Given the description of an element on the screen output the (x, y) to click on. 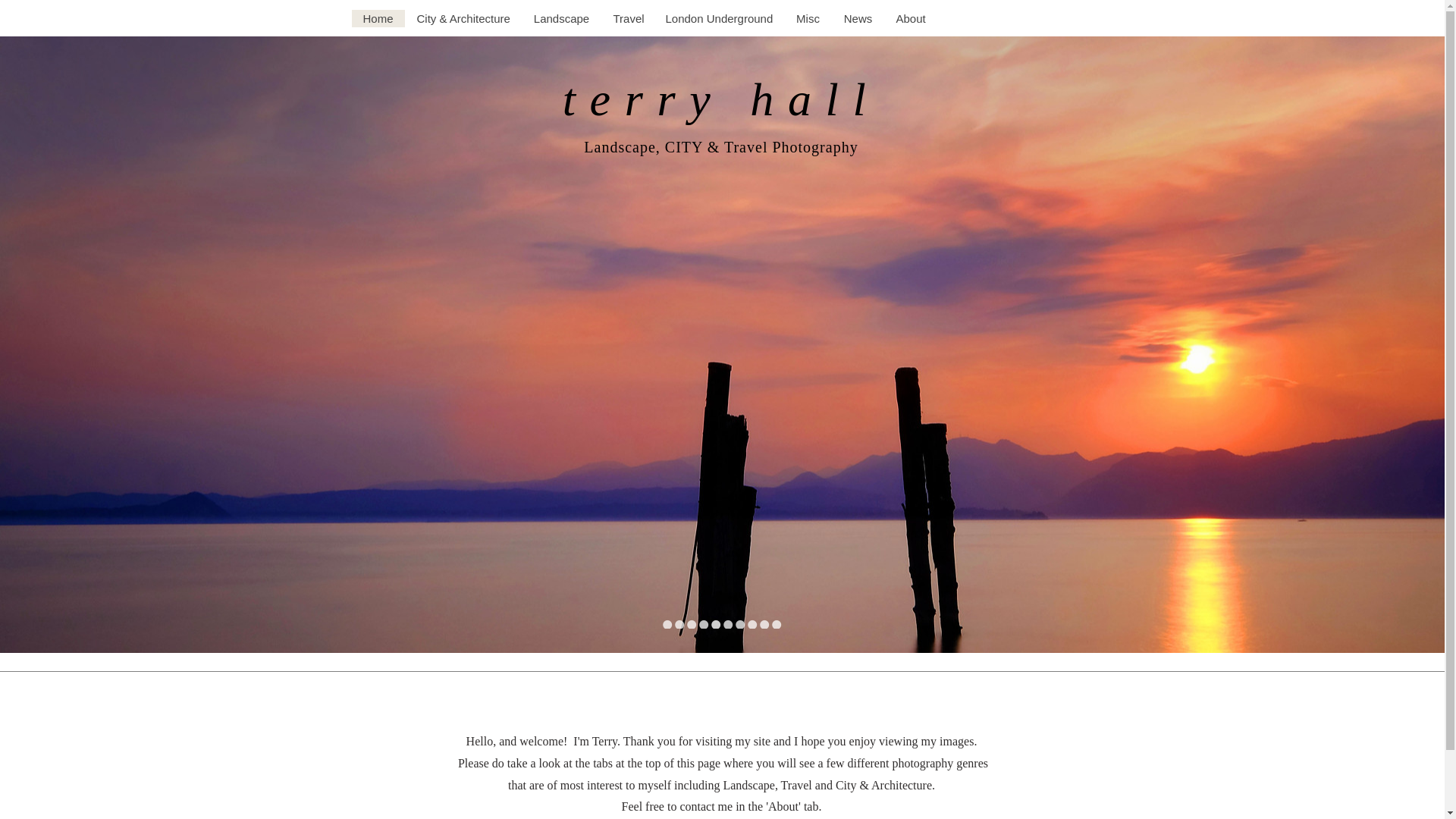
London Underground (718, 18)
Misc (807, 18)
terry hall (720, 99)
About (910, 18)
Home (378, 18)
News (857, 18)
Travel (625, 18)
Landscape (561, 18)
